Given the description of an element on the screen output the (x, y) to click on. 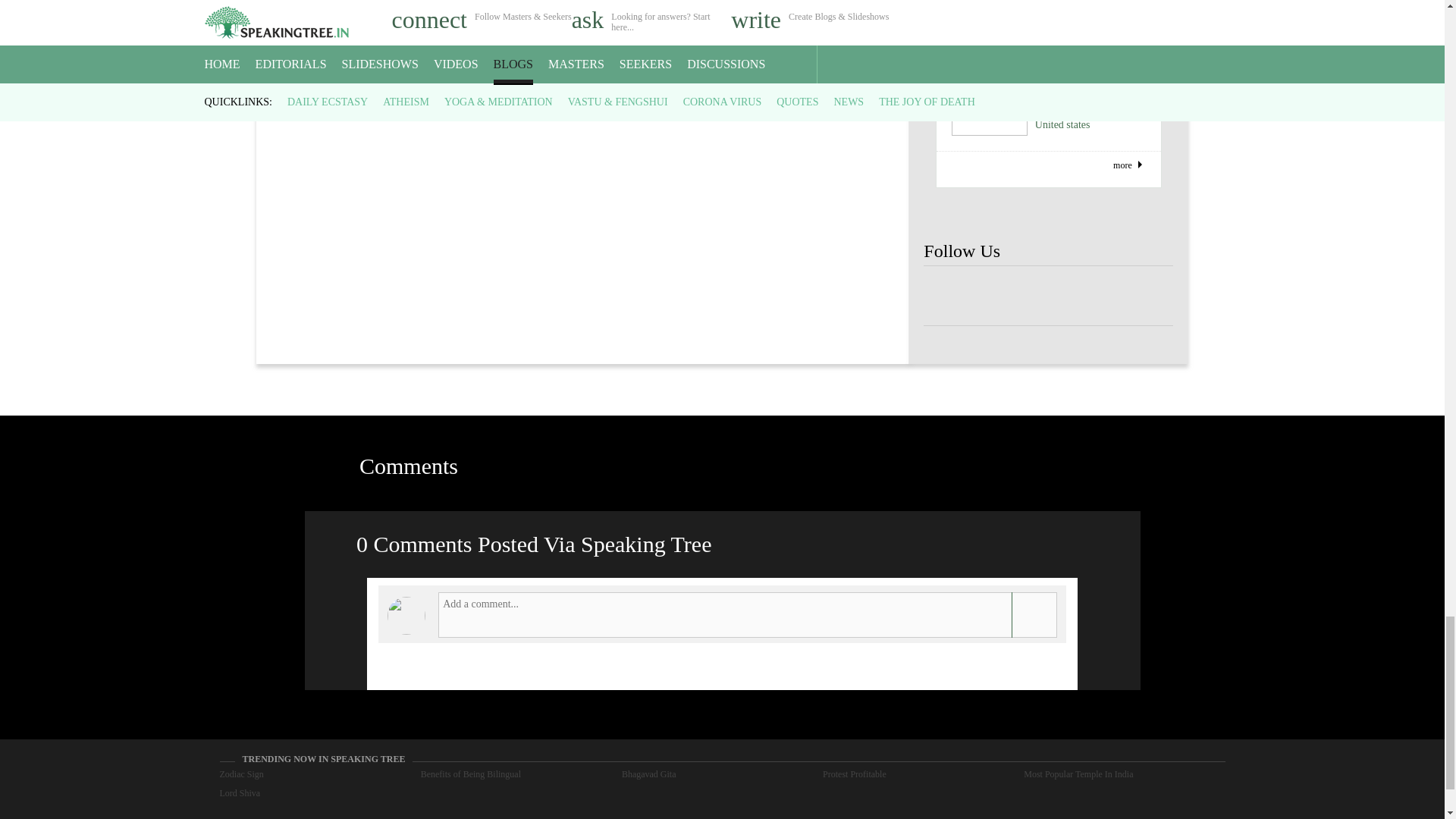
Speaking Tree FaceBook (998, 296)
Speaking Tree FaceBook (1099, 296)
Speaking Tree FaceBook (1147, 296)
Speaking Tree FaceBook (1048, 296)
Speaking Tree FaceBook (948, 296)
